Given the description of an element on the screen output the (x, y) to click on. 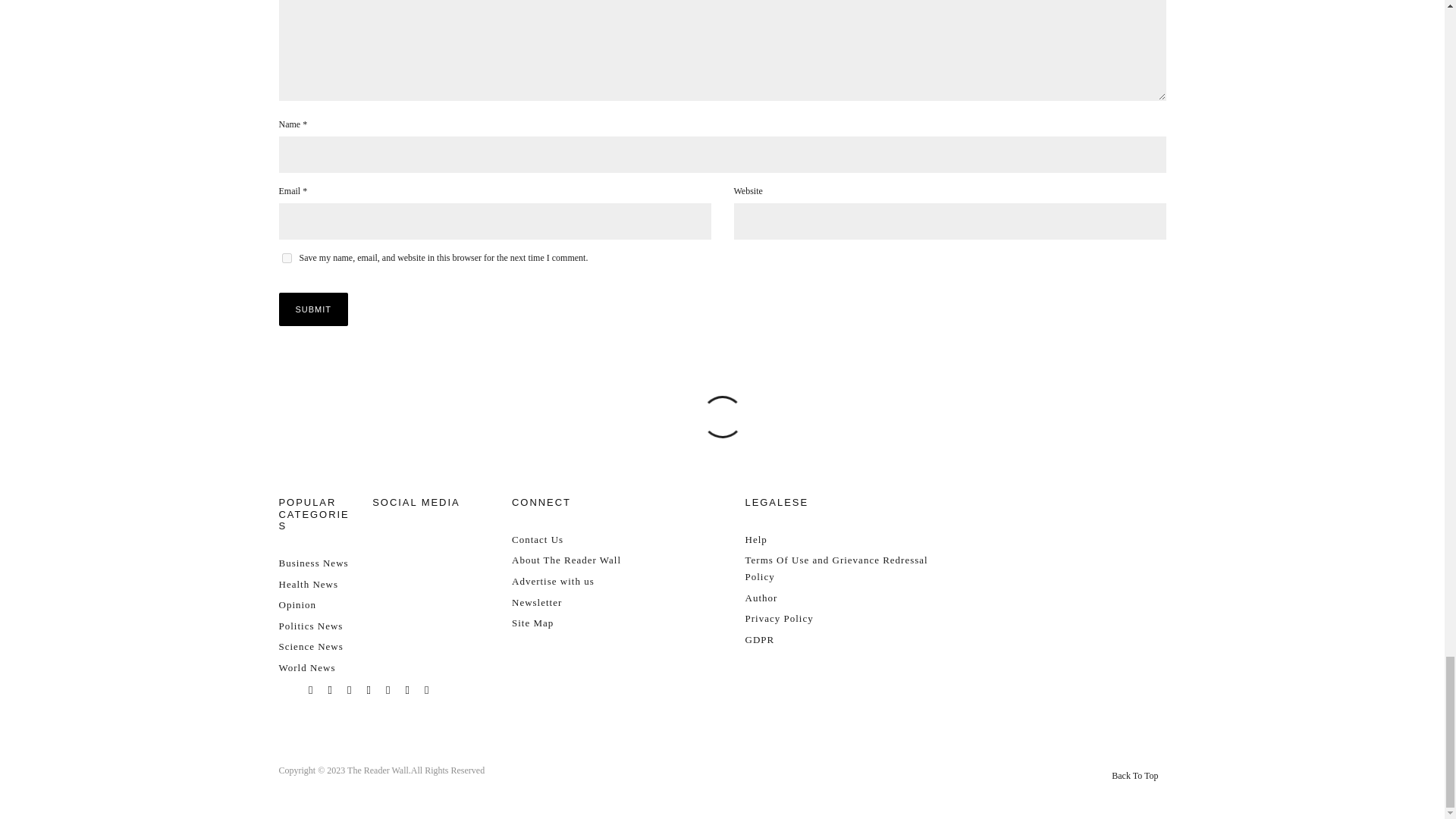
Submit (314, 308)
yes (287, 257)
